Given the description of an element on the screen output the (x, y) to click on. 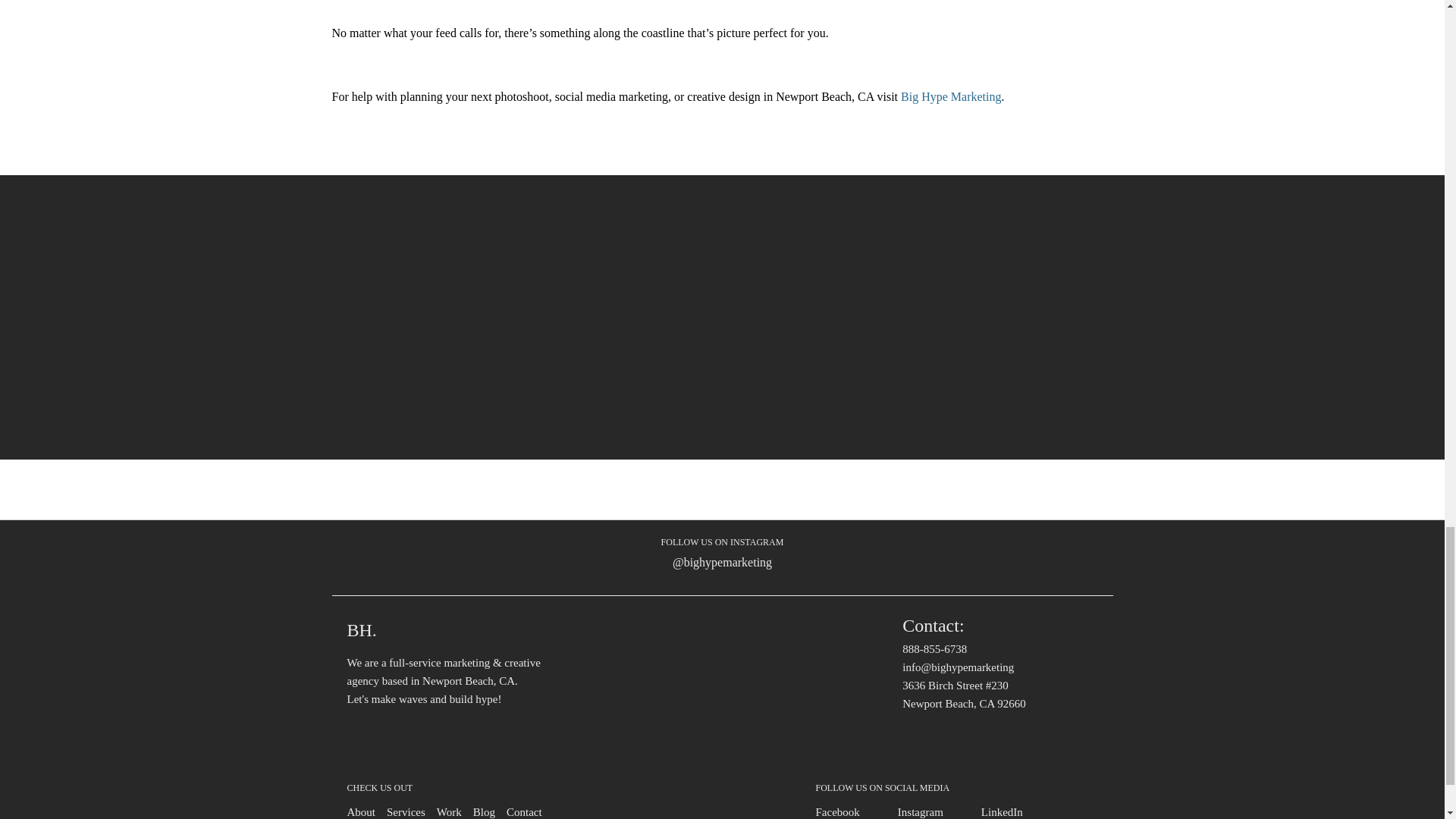
Services (406, 811)
888-855-6738 (934, 648)
Work (448, 811)
Blog (484, 811)
About (361, 811)
Big Hype Marketing (951, 96)
